Given the description of an element on the screen output the (x, y) to click on. 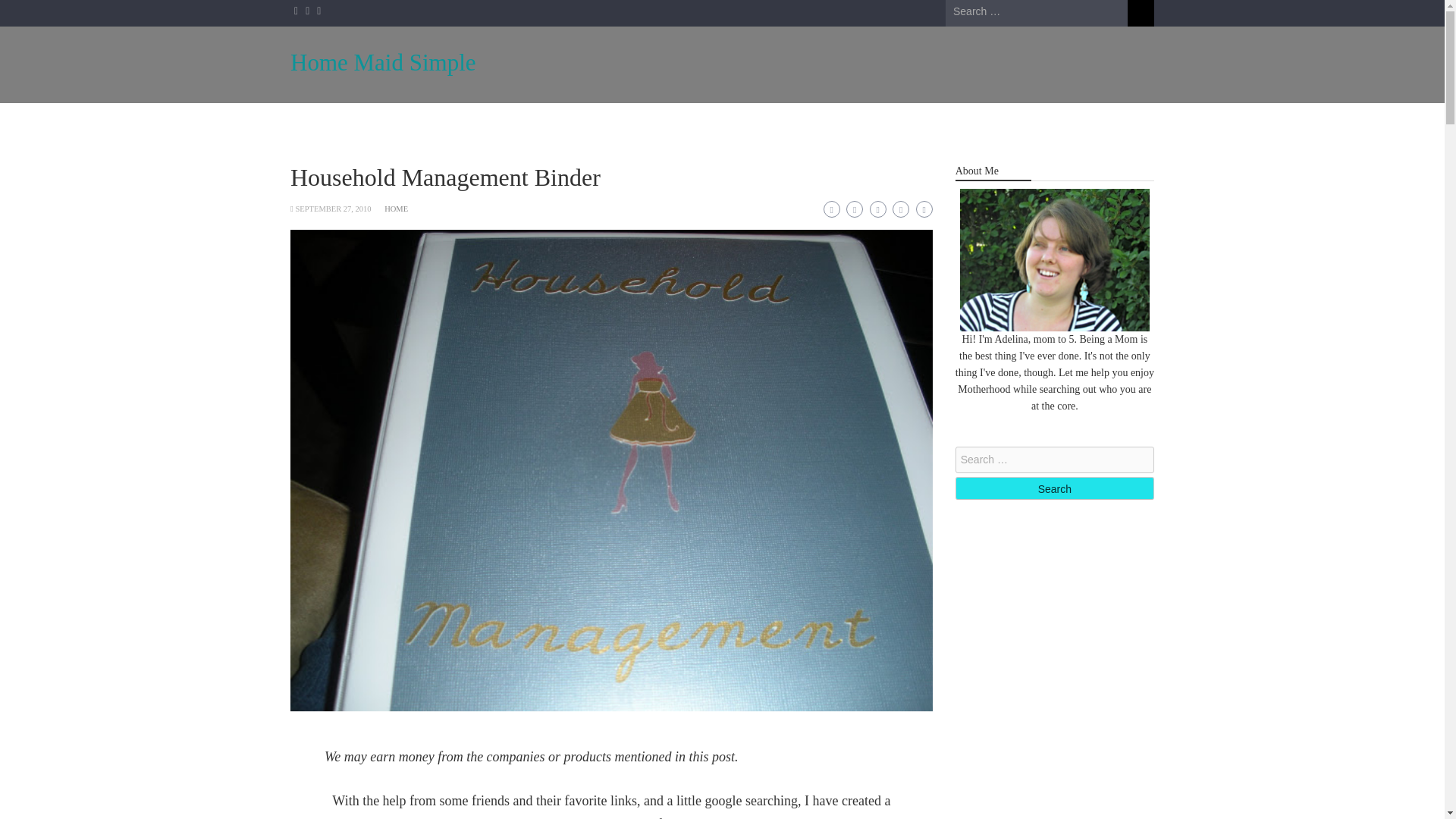
HOME (395, 208)
Family (559, 123)
SEPTEMBER 27, 2010 (333, 208)
Search for: (1035, 11)
Home Maid Simple (382, 62)
Search (1054, 487)
Search (1140, 13)
Search (1054, 487)
Recipes (732, 123)
Movie Night (644, 123)
